Given the description of an element on the screen output the (x, y) to click on. 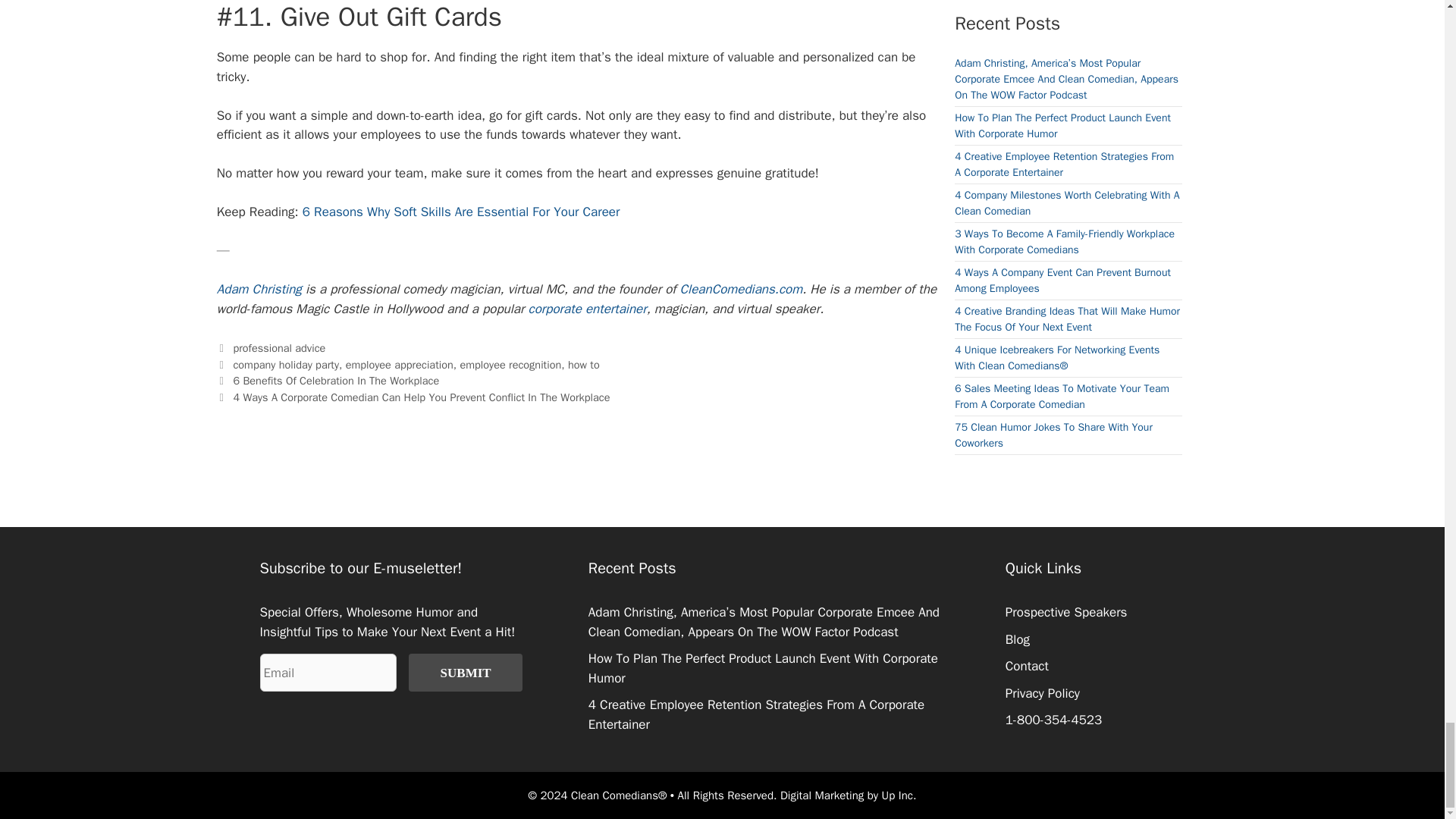
Submit (465, 672)
